Given the description of an element on the screen output the (x, y) to click on. 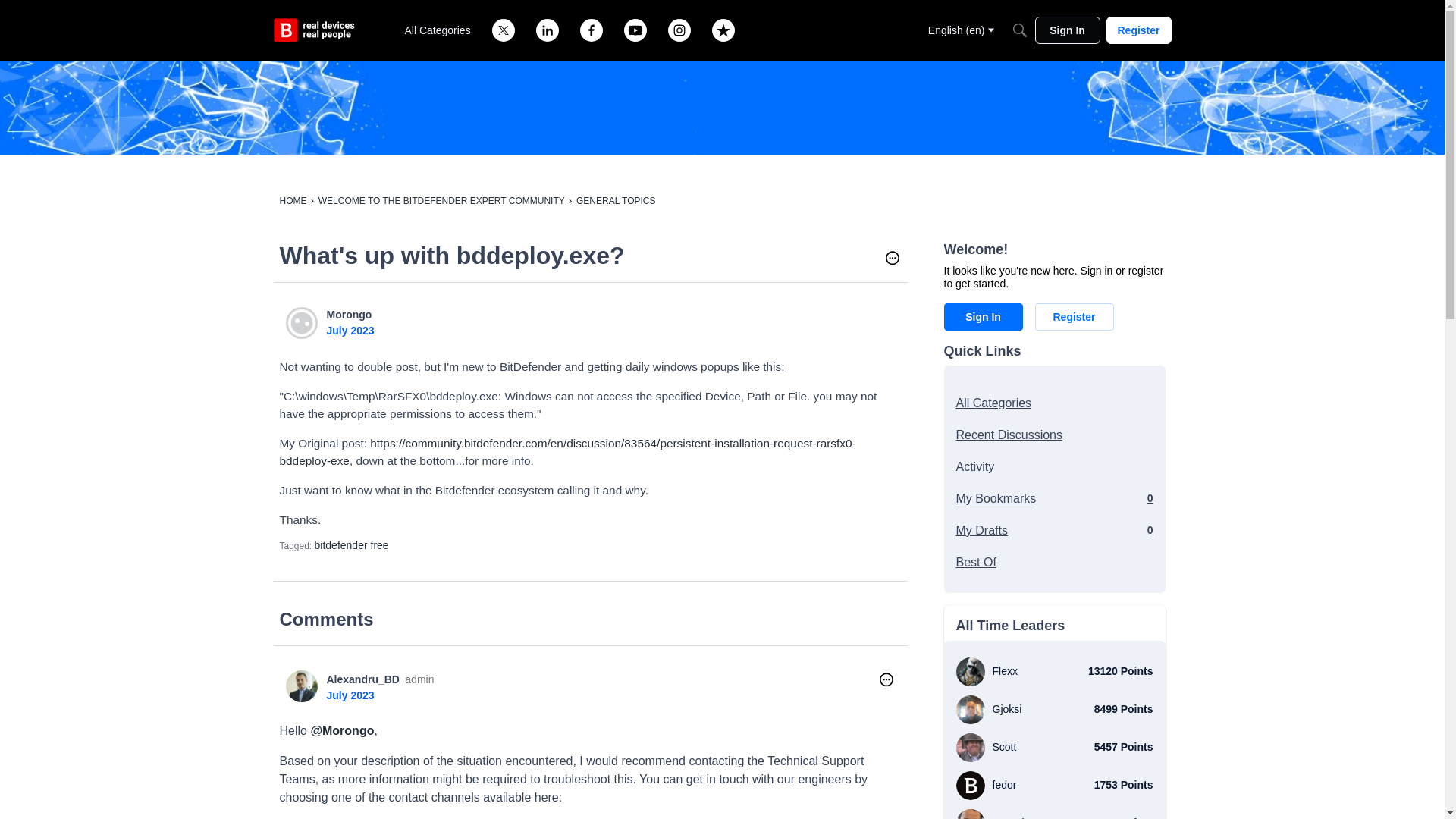
July 2023 (350, 695)
Morongo (301, 323)
Morongo (348, 314)
All Categories (437, 30)
Search (1019, 30)
July 2023 (350, 330)
Admin (418, 679)
Register (1137, 30)
WELCOME TO THE BITDEFENDER EXPERT COMMUNITY (441, 200)
Sign In (982, 316)
GENERAL TOPICS (615, 200)
HOME (292, 200)
bitdefender free (351, 544)
Sign In (1066, 30)
